Given the description of an element on the screen output the (x, y) to click on. 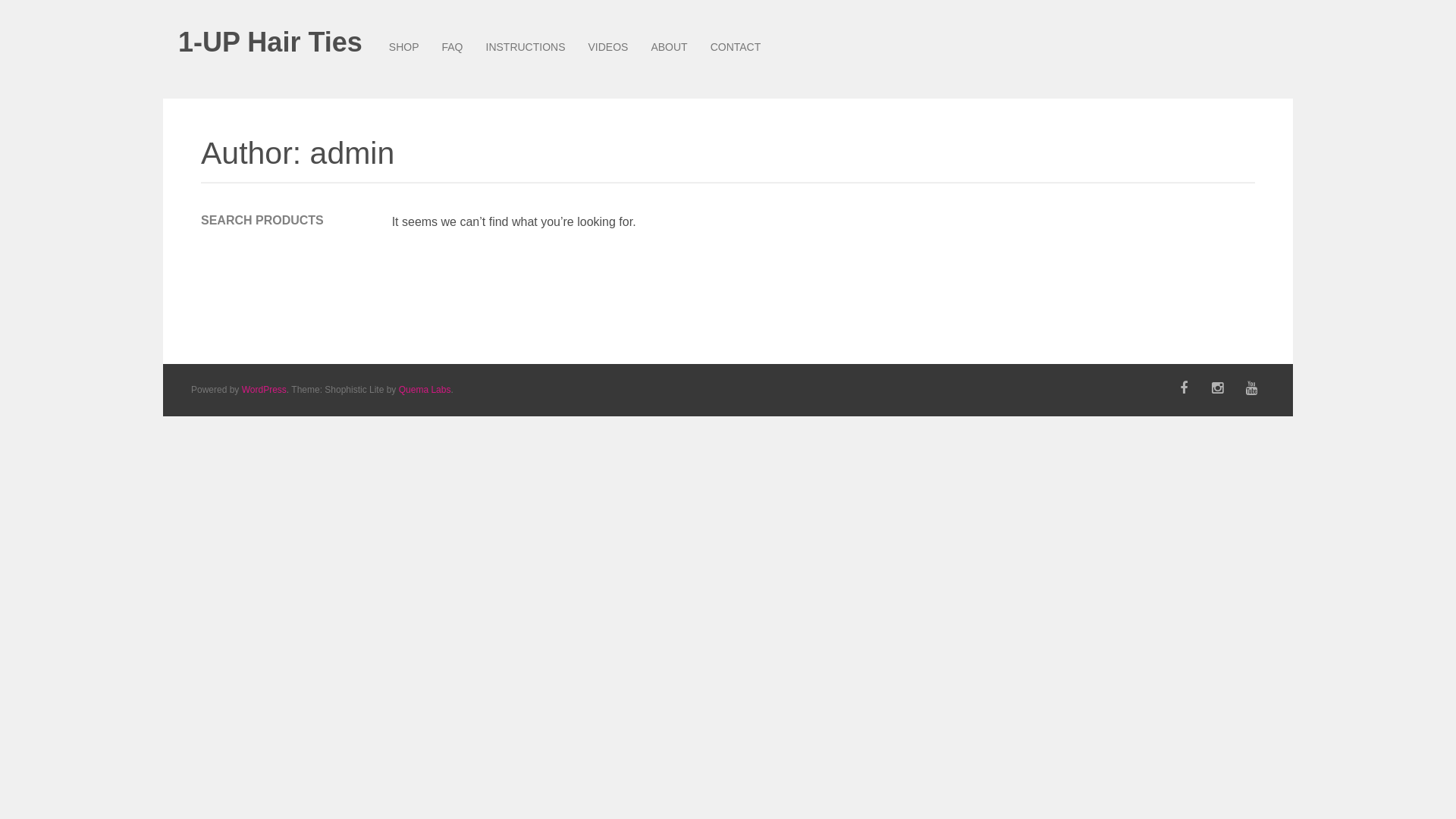
VIDEOS Element type: text (607, 46)
INSTRUCTIONS Element type: text (525, 46)
WordPress Element type: text (263, 389)
1-UP Hair Ties Element type: text (270, 41)
ABOUT Element type: text (668, 46)
FAQ Element type: text (451, 46)
Quema Labs Element type: text (424, 389)
CONTACT Element type: text (735, 46)
SHOP Element type: text (403, 46)
